Given the description of an element on the screen output the (x, y) to click on. 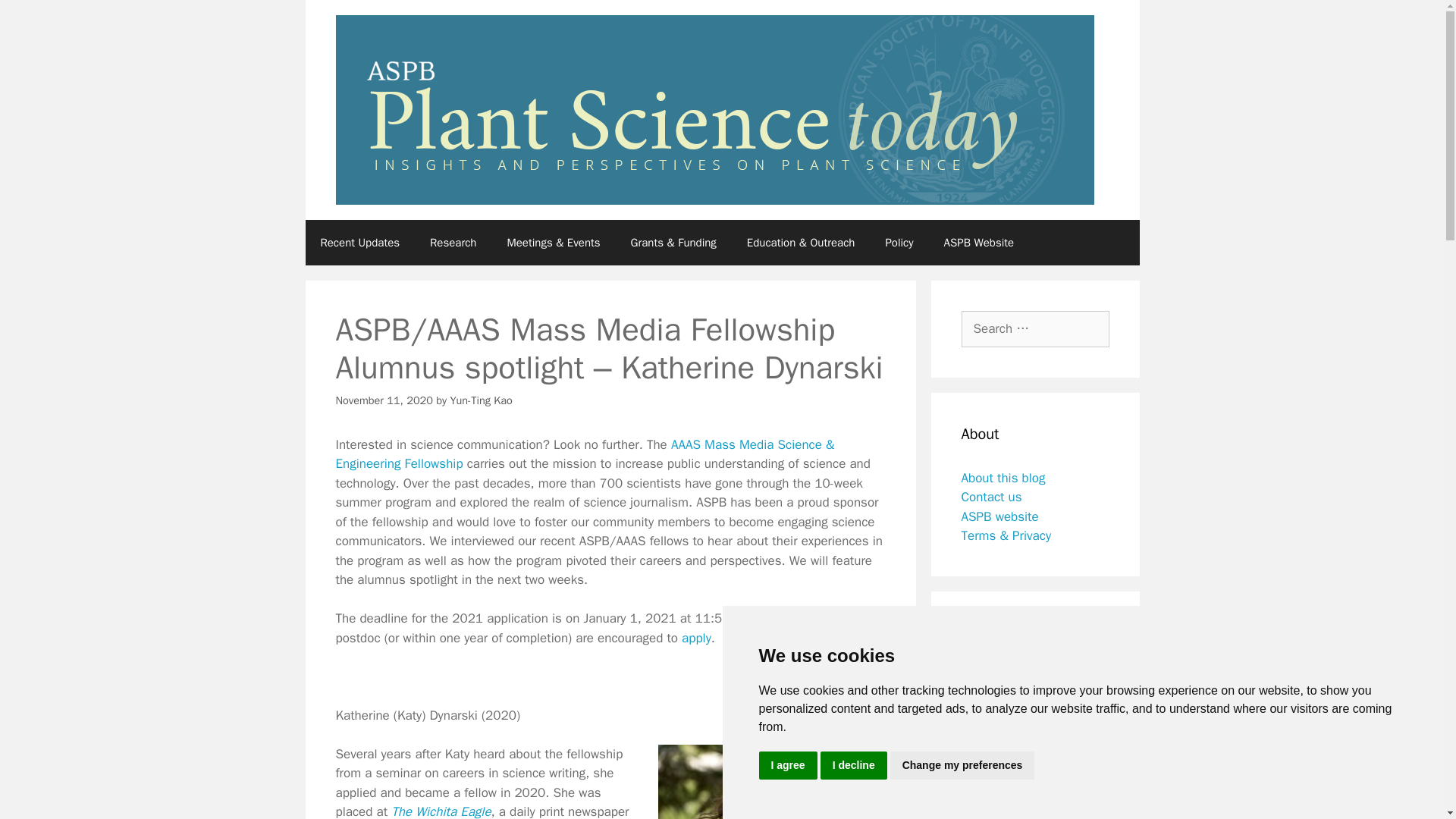
Yun-Ting Kao (480, 400)
Search (35, 18)
I agree (787, 765)
View all posts by Yun-Ting Kao (480, 400)
About this blog (1002, 478)
ASPB website (999, 515)
Recent Updates (359, 242)
Change my preferences (962, 765)
apply (696, 637)
I decline (853, 765)
Search for: (1034, 329)
Contact us (991, 496)
Research (453, 242)
